Given the description of an element on the screen output the (x, y) to click on. 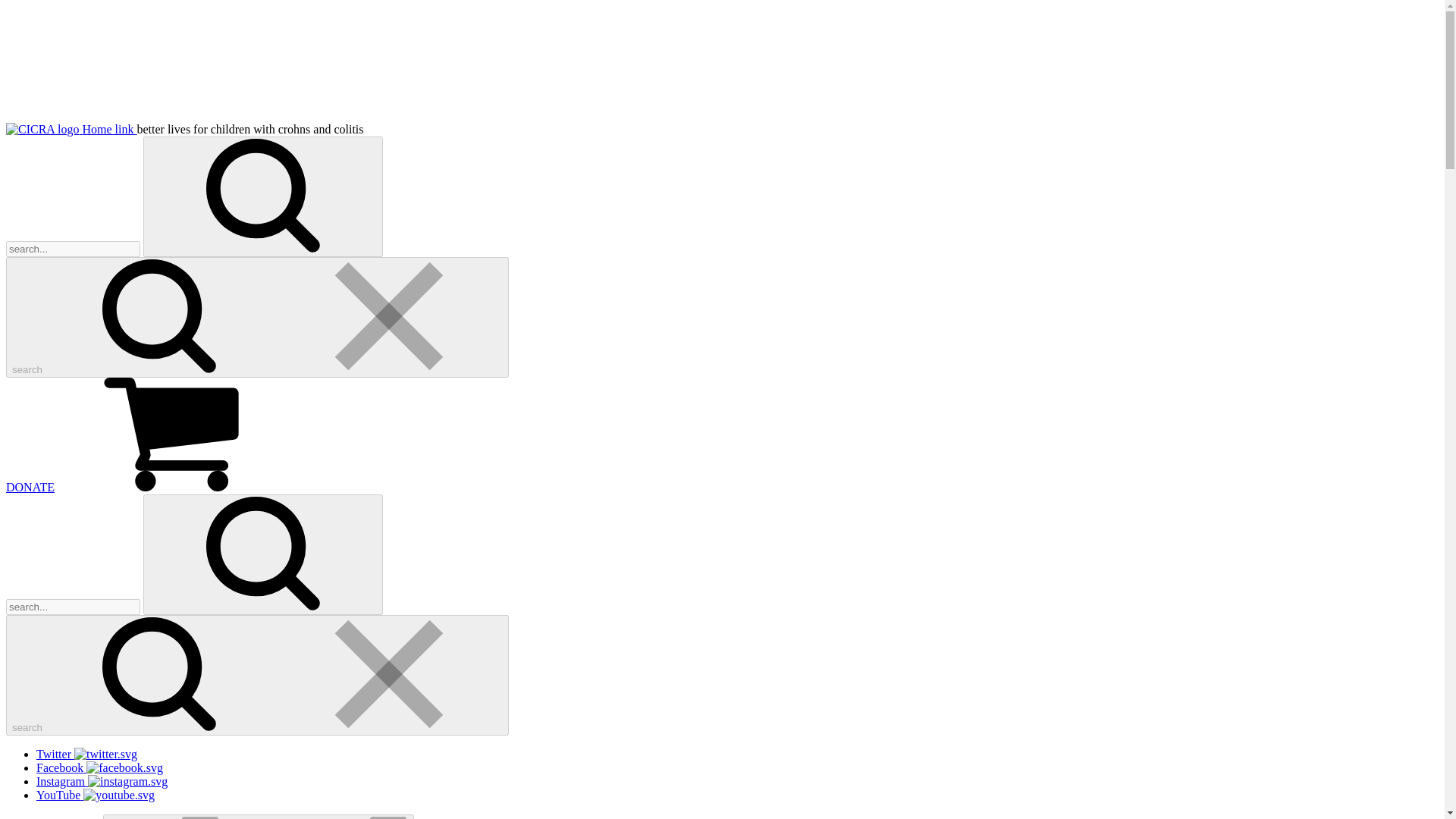
Toggle sub nav (258, 816)
Instagram (101, 780)
search (256, 675)
Facebook (99, 767)
Twitter (86, 753)
YouTube (95, 794)
search (256, 317)
DONATE (30, 486)
Home link (70, 128)
